Given the description of an element on the screen output the (x, y) to click on. 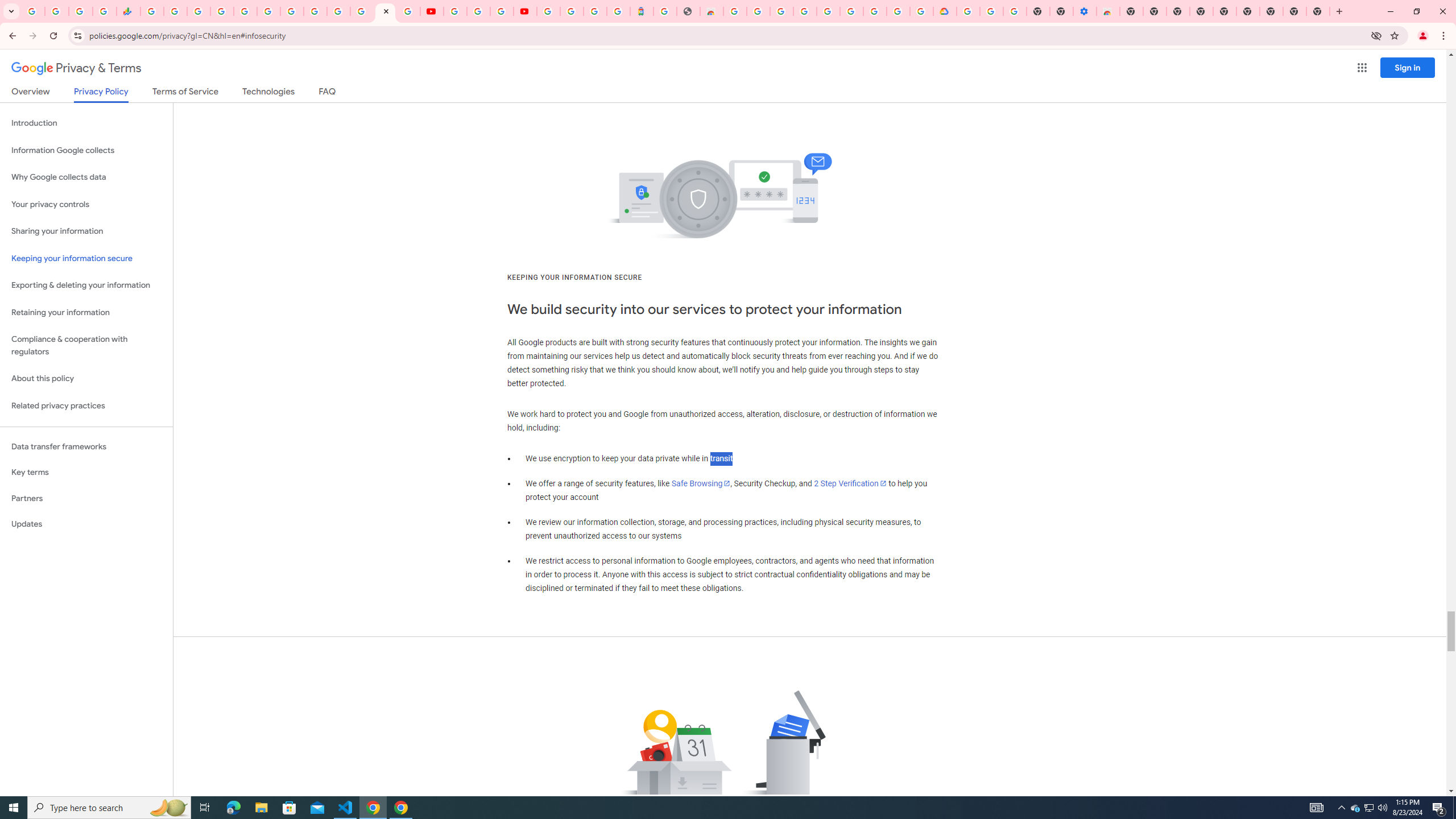
Privacy & Terms (76, 68)
Related privacy practices (86, 405)
Sign in - Google Accounts (827, 11)
New Tab (1131, 11)
Retaining your information (86, 312)
Google Account Help (478, 11)
Browse the Google Chrome Community - Google Chrome Community (921, 11)
Your privacy controls (86, 204)
